Given the description of an element on the screen output the (x, y) to click on. 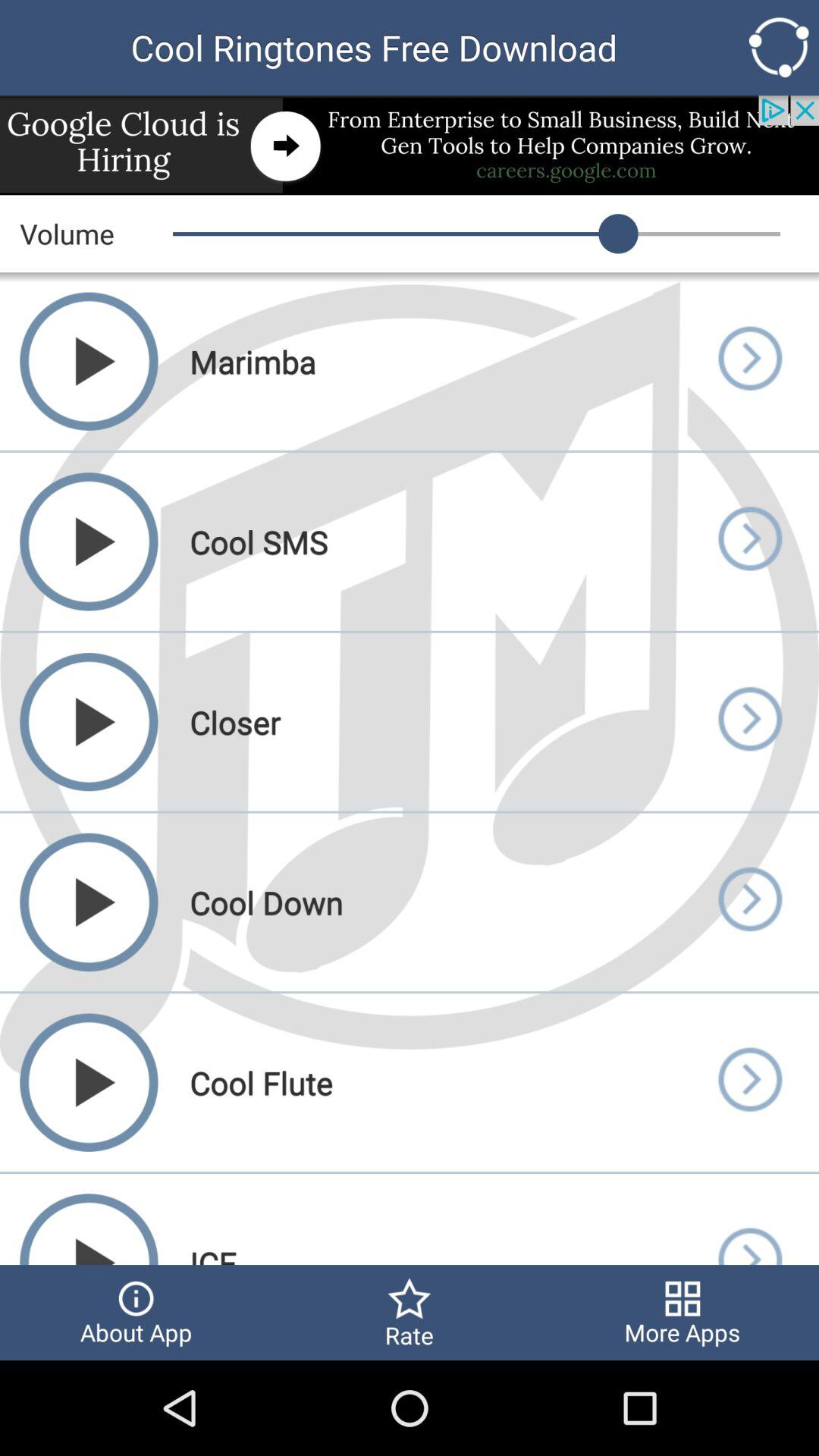
go to button (749, 902)
